Given the description of an element on the screen output the (x, y) to click on. 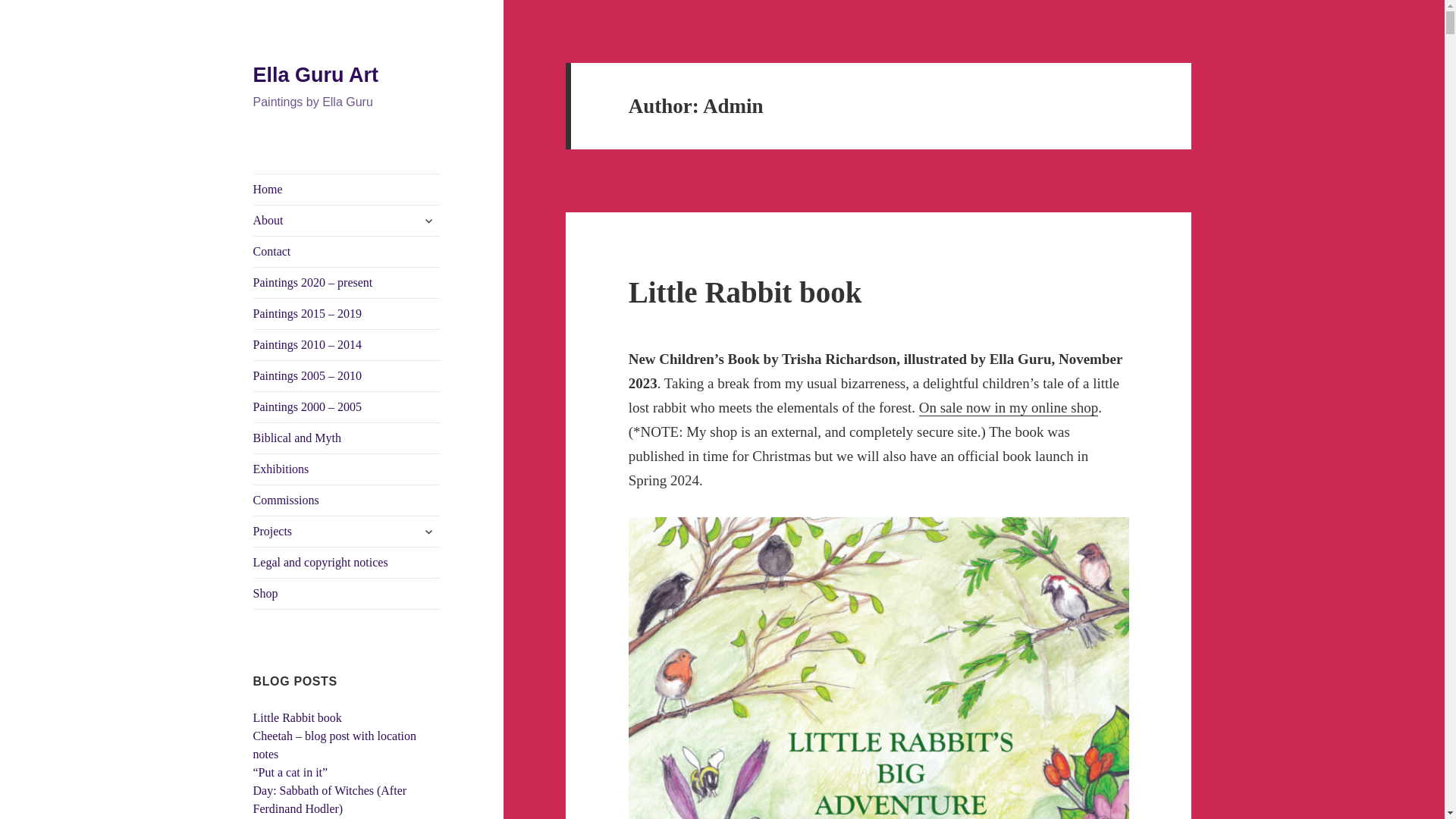
Commissions (347, 500)
Shop (347, 593)
Contact (347, 251)
Exhibitions (347, 469)
Legal and copyright notices (347, 562)
expand child menu (428, 531)
About (347, 220)
Little Rabbit book (744, 292)
On sale now in my online shop (1007, 407)
Little Rabbit book (297, 717)
Ella Guru Art (315, 74)
Home (347, 189)
Projects (347, 531)
expand child menu (428, 220)
Biblical and Myth (347, 438)
